Given the description of an element on the screen output the (x, y) to click on. 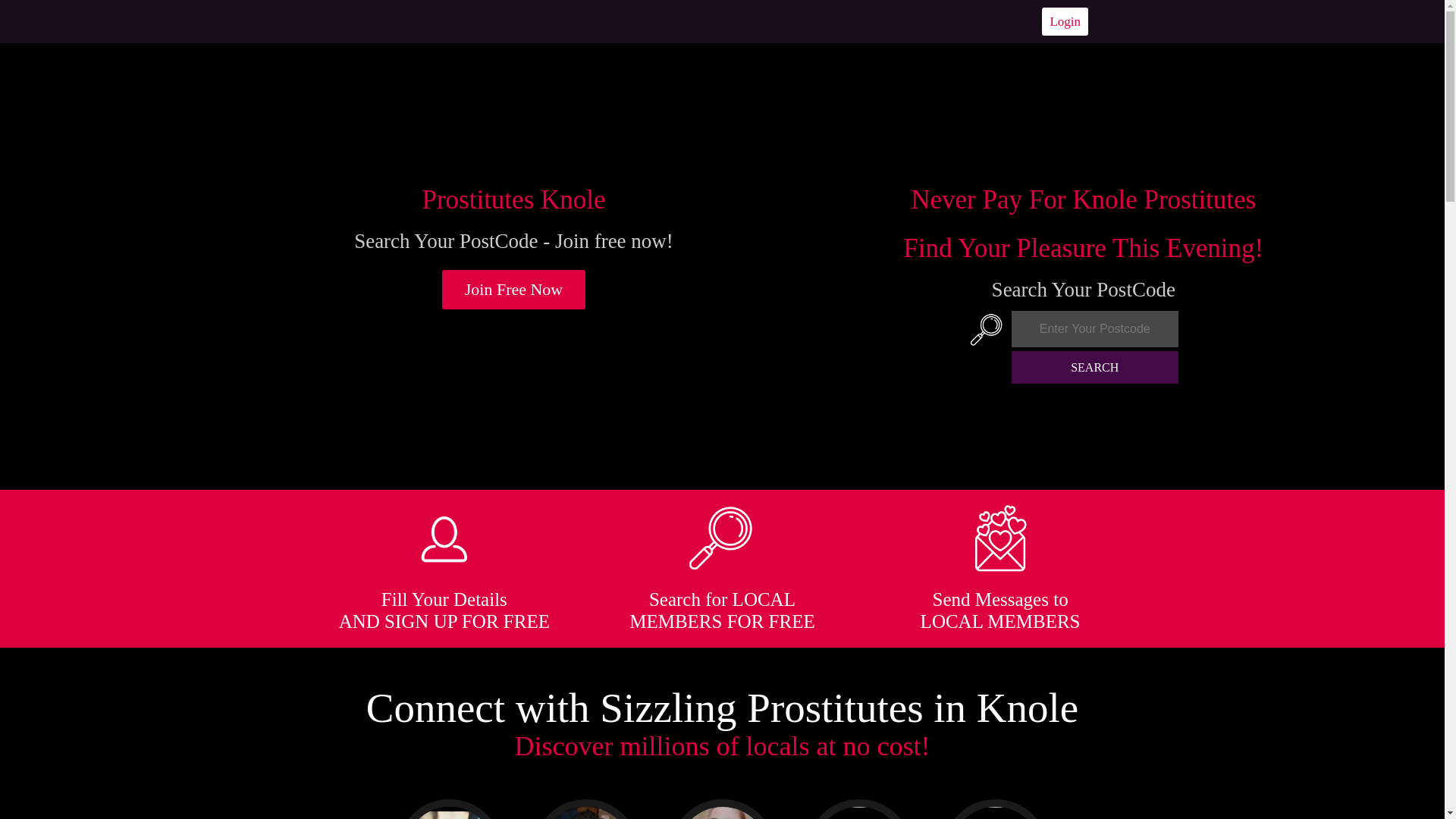
Login (1064, 21)
Join (514, 289)
Join Free Now (514, 289)
Login (1064, 21)
SEARCH (1094, 367)
